Given the description of an element on the screen output the (x, y) to click on. 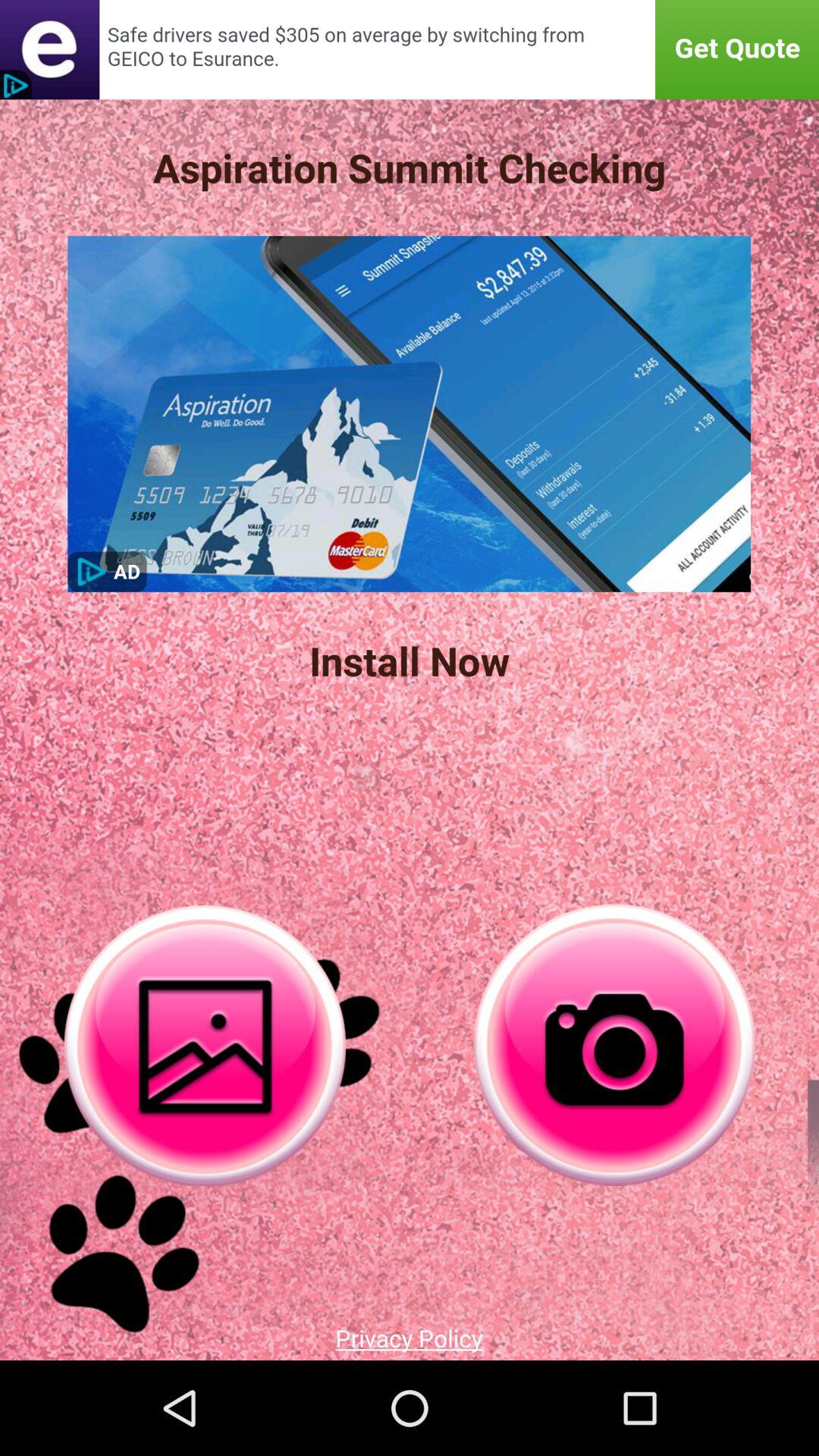
advertisements (409, 49)
